Given the description of an element on the screen output the (x, y) to click on. 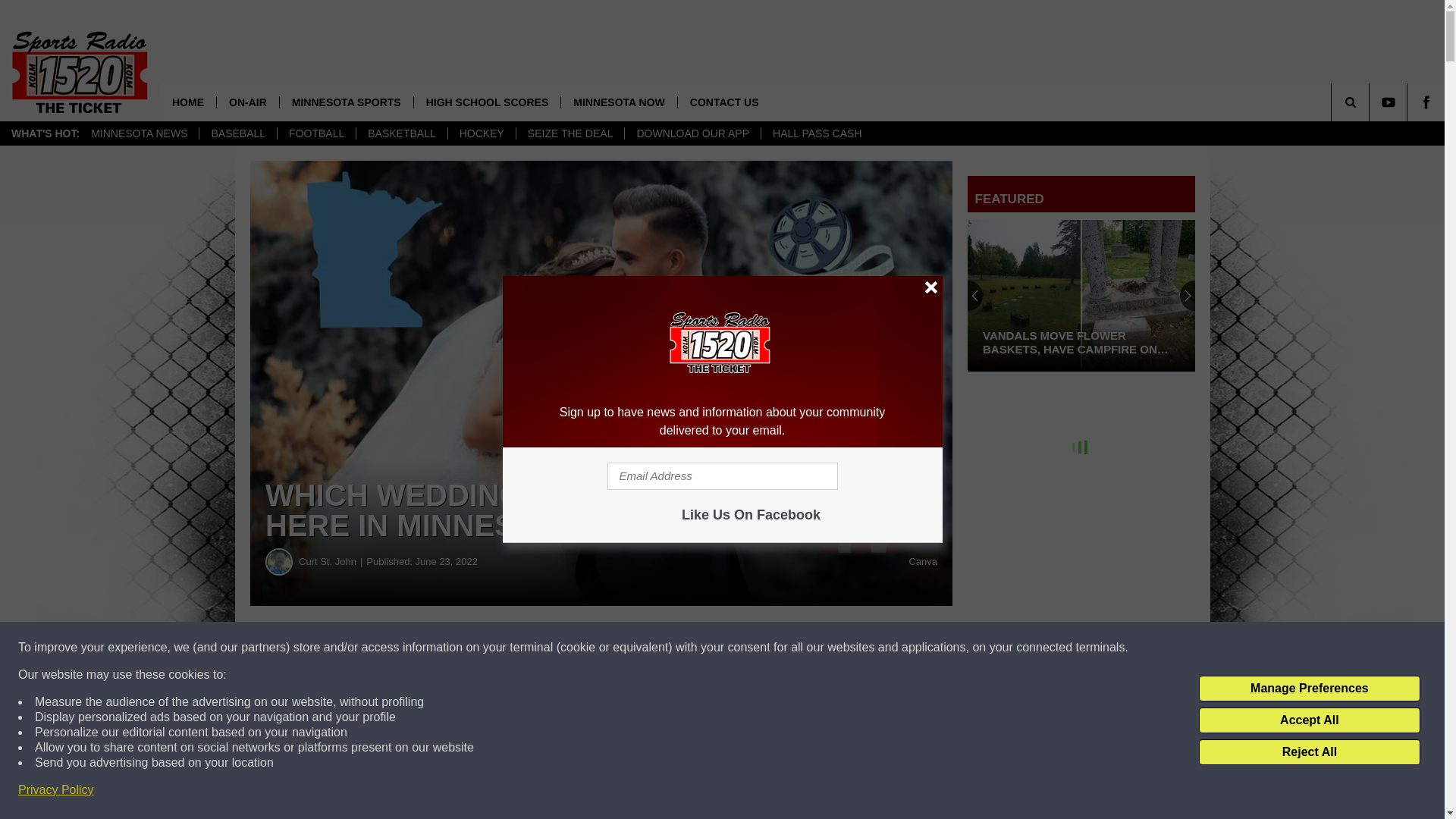
SEARCH (1371, 102)
Privacy Policy (55, 789)
Accept All (1309, 720)
FOOTBALL (315, 133)
ON-AIR (247, 102)
DOWNLOAD OUR APP (692, 133)
HIGH SCHOOL SCORES (486, 102)
MINNESOTA SPORTS (346, 102)
HALL PASS CASH (816, 133)
MINNESOTA NOW (618, 102)
Share on Facebook (460, 647)
Manage Preferences (1309, 688)
BASKETBALL (400, 133)
MINNESOTA NEWS (139, 133)
Share on Twitter (741, 647)
